Given the description of an element on the screen output the (x, y) to click on. 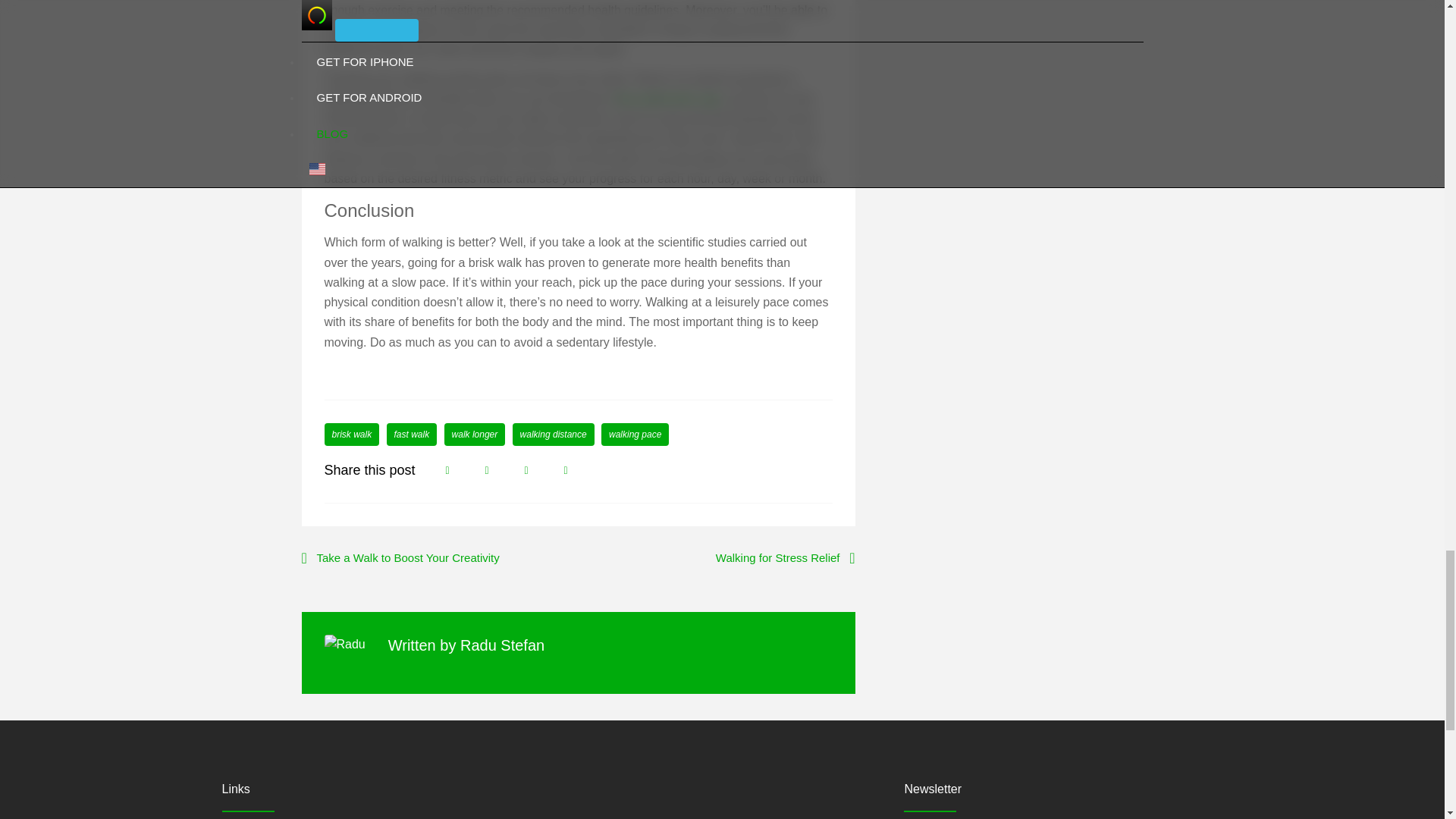
Radu Stefan (502, 645)
walk longer (474, 434)
Share on Facebook (447, 470)
fast walk (412, 434)
brisk walk (352, 434)
Linkedin (566, 470)
Share on Linkedin (566, 470)
Share on Twitter (487, 470)
Take a Walk to Boost Your Creativity (400, 558)
walking pace (634, 434)
Walking for Stress Relief (786, 558)
Posts by Radu Stefan (502, 645)
walking distance (553, 434)
Twitter (487, 470)
free pedometer app (667, 98)
